Given the description of an element on the screen output the (x, y) to click on. 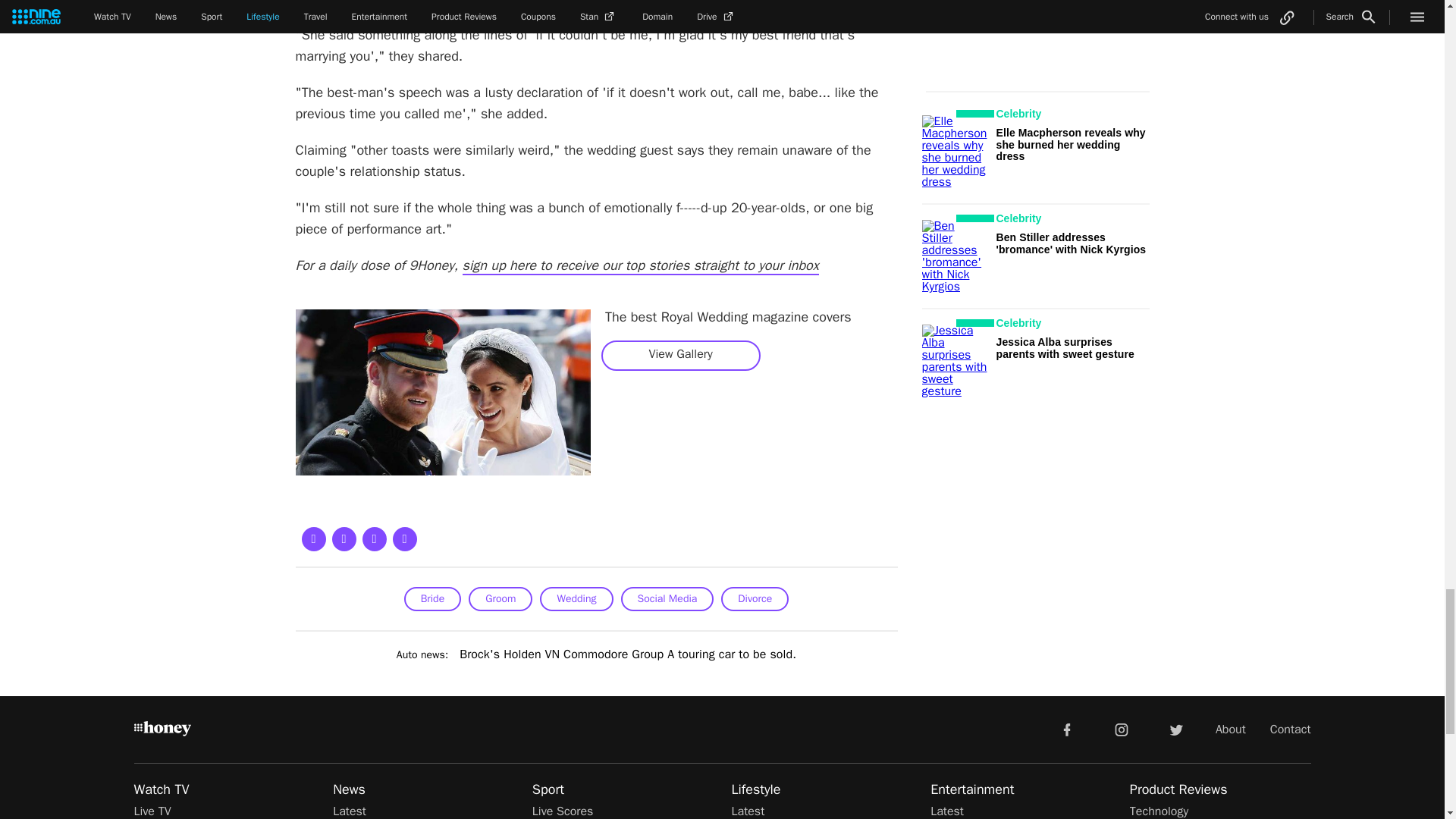
Wedding (576, 598)
instagram (1121, 728)
Social Media (666, 598)
Groom (500, 598)
Bride (432, 598)
facebook (1066, 728)
View Gallery (680, 354)
twitter (1175, 728)
